Given the description of an element on the screen output the (x, y) to click on. 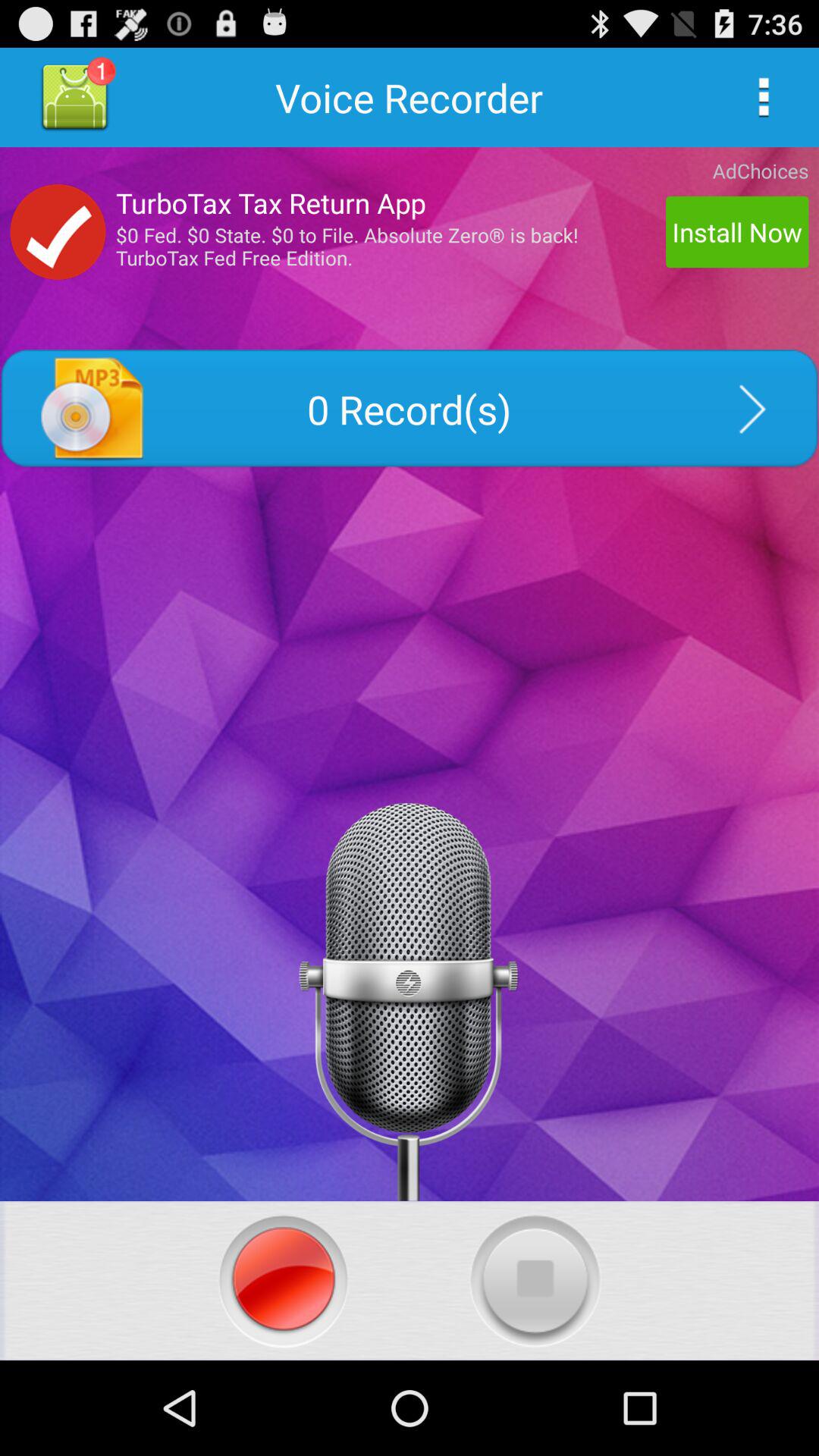
super voice recorder (283, 1280)
